Given the description of an element on the screen output the (x, y) to click on. 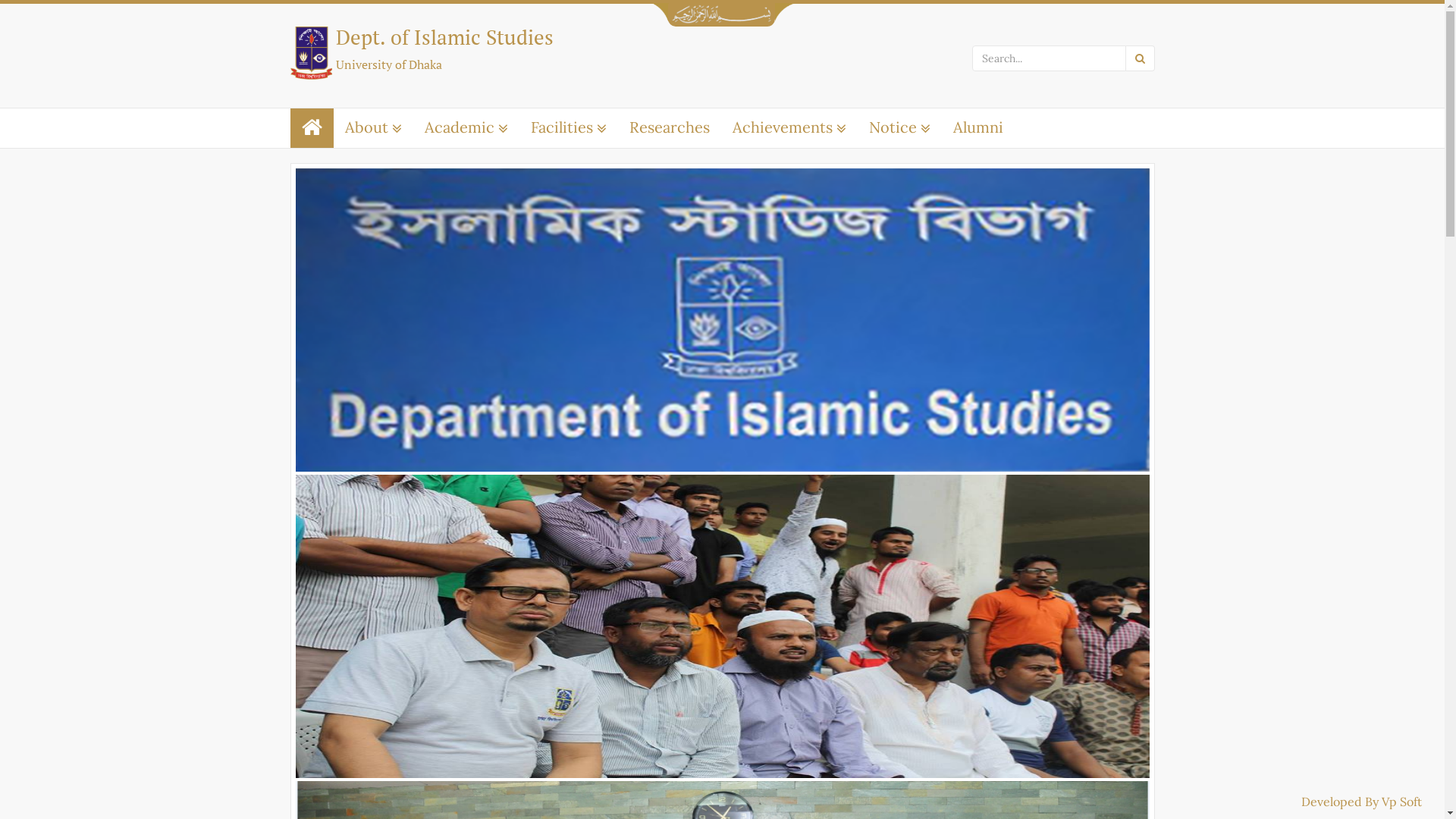
Dept. of Islamic Studies
University of Dhaka Element type: text (499, 49)
Developed By Vp Soft Element type: text (1361, 801)
Researches Element type: text (668, 126)
Facilities Element type: text (567, 127)
Alumni Element type: text (977, 126)
Notice Element type: text (898, 127)
Academic Element type: text (465, 127)
About Element type: text (373, 127)
Achievements Element type: text (788, 127)
